Given the description of an element on the screen output the (x, y) to click on. 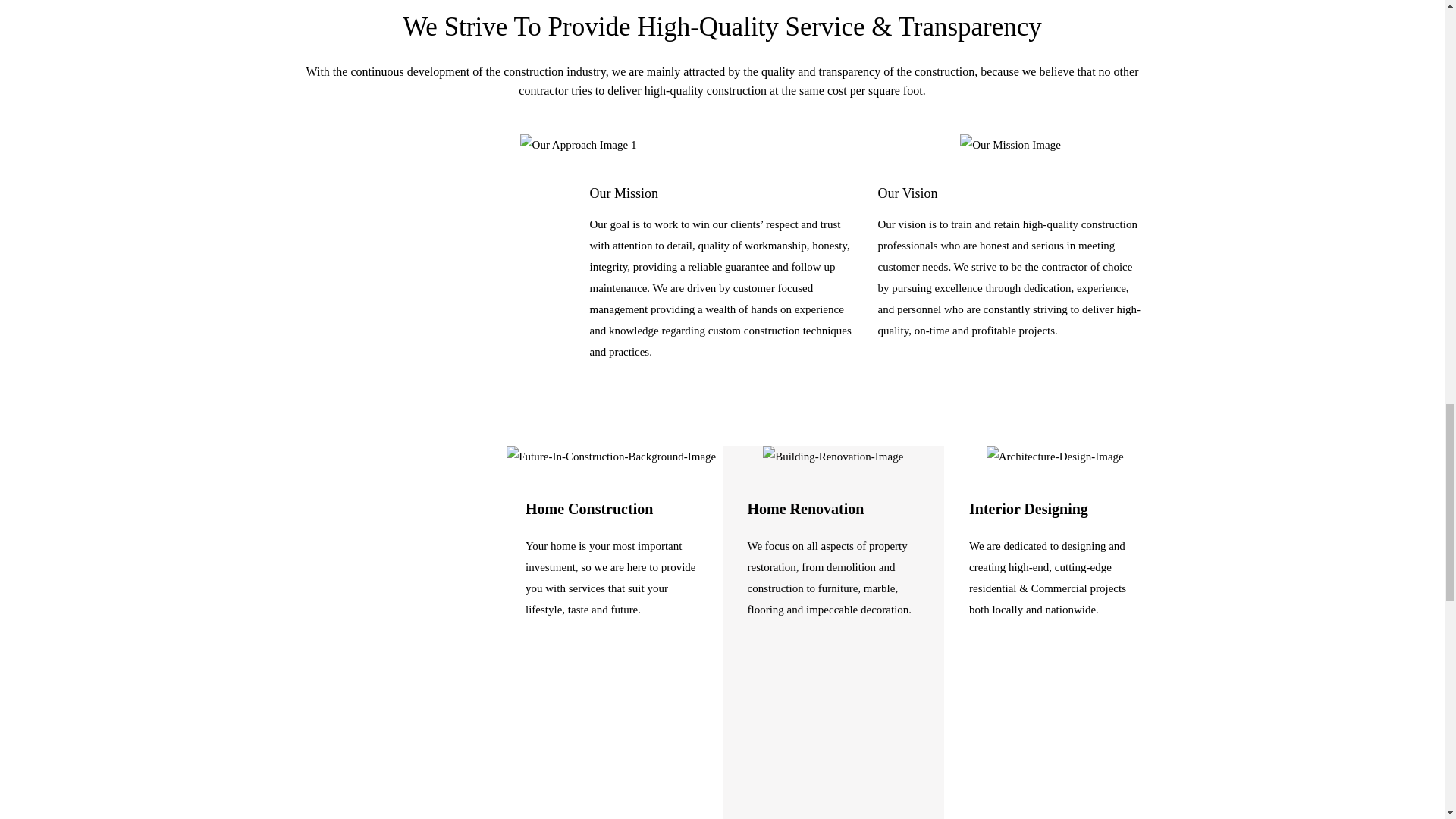
Company Overview 3 (1010, 144)
Company Overview 6 (1055, 455)
Company Overview 5 (832, 455)
Company Overview 4 (611, 455)
Interior Designing (1028, 508)
Home Renovation (806, 508)
Home Construction (588, 508)
Company Overview 2 (578, 144)
